Given the description of an element on the screen output the (x, y) to click on. 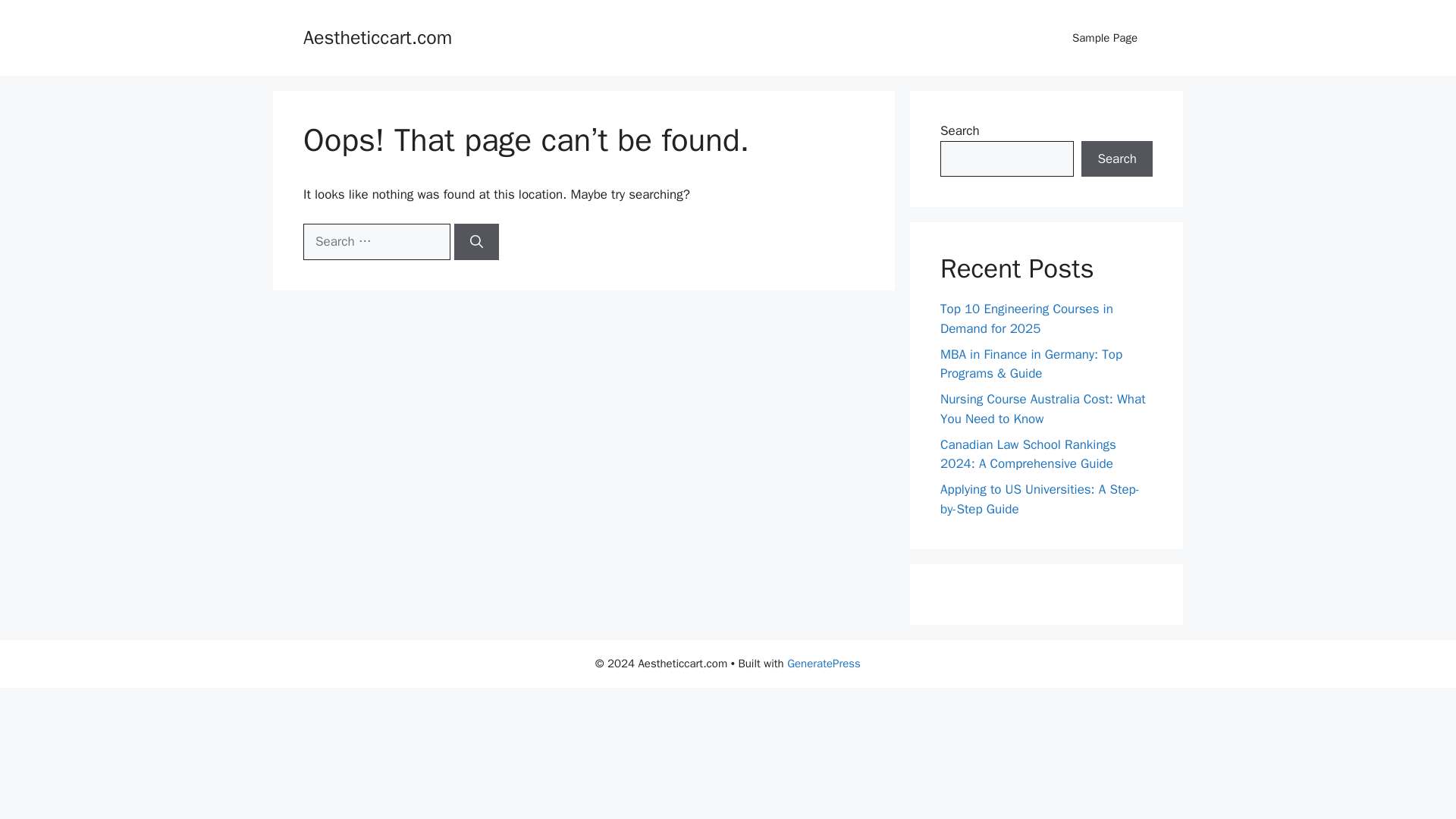
Nursing Course Australia Cost: What You Need to Know (1042, 408)
Canadian Law School Rankings 2024: A Comprehensive Guide (1028, 454)
Aestheticcart.com (376, 37)
Search (1117, 158)
Top 10 Engineering Courses in Demand for 2025 (1026, 318)
Sample Page (1105, 37)
GeneratePress (823, 663)
Applying to US Universities: A Step-by-Step Guide (1040, 498)
Search for: (375, 241)
